Given the description of an element on the screen output the (x, y) to click on. 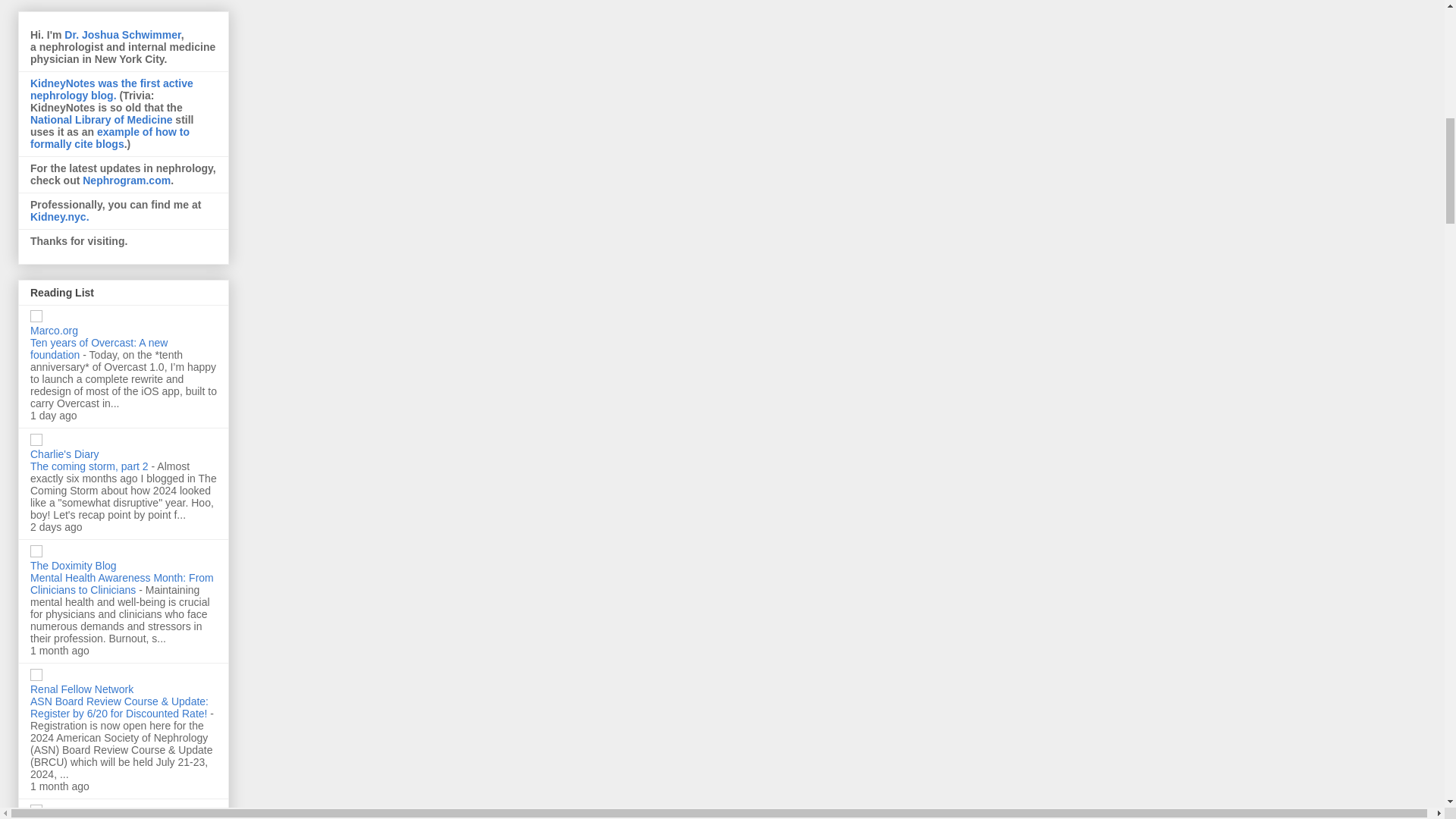
Ten years of Overcast: A new foundation (98, 348)
Mental Health Awareness Month: From Clinicians to Clinicians (122, 583)
National Library of Medicine (100, 119)
Marco.org (54, 330)
Renal Fellow Network (81, 689)
The Doximity Blog (73, 565)
example of how to formally cite blogs (109, 137)
KidneyNotes was the first active nephrology blog. (111, 88)
Charlie's Diary (64, 453)
Kidney.nyc. (59, 216)
Nephrogram.com (126, 180)
Dr. Joshua Schwimmer (122, 34)
The coming storm, part 2 (90, 466)
